Given the description of an element on the screen output the (x, y) to click on. 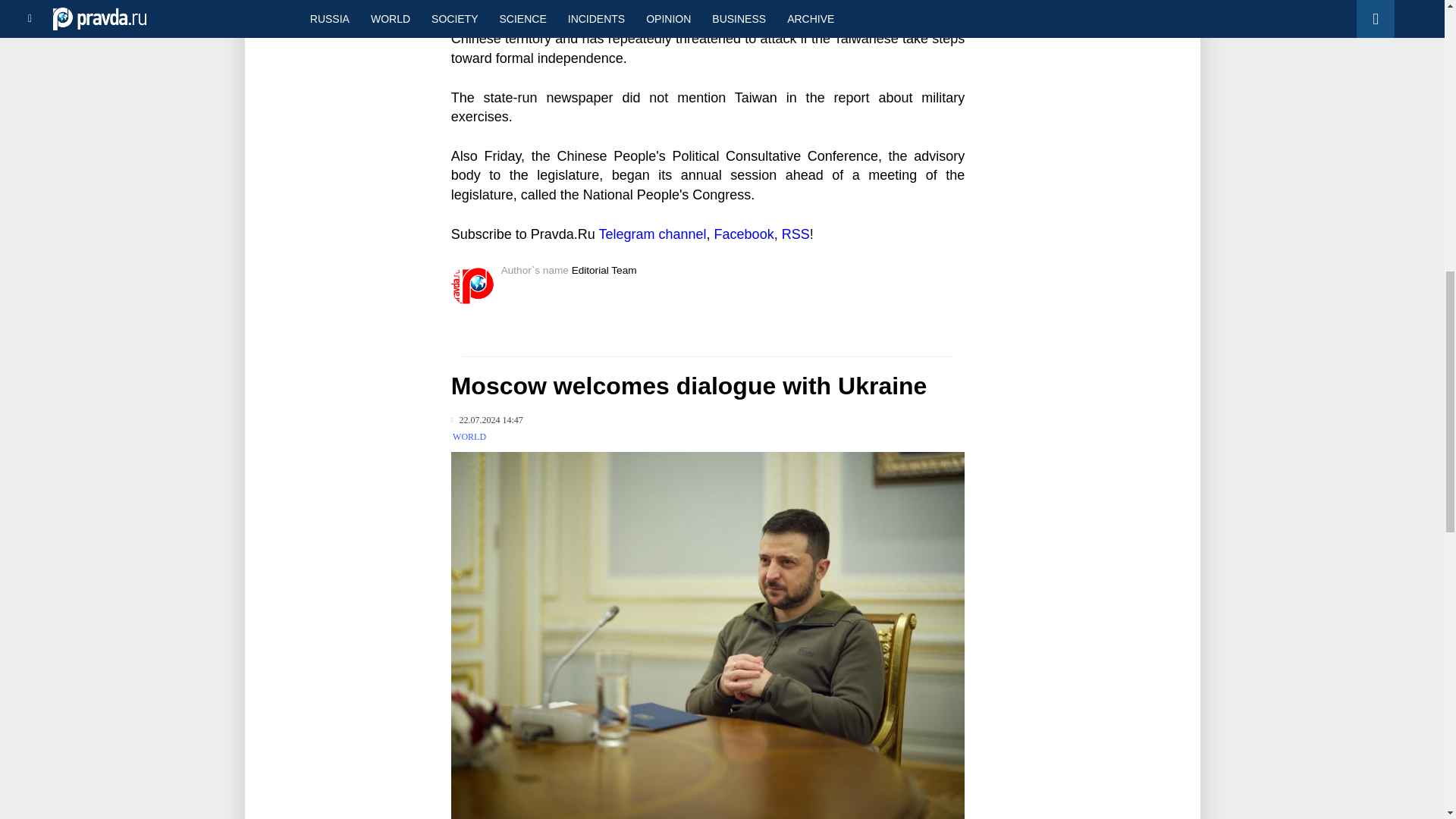
Editorial Team (604, 270)
Published (486, 419)
RSS (795, 233)
Back to top (1418, 79)
Facebook (744, 233)
Telegram channel (652, 233)
WORLD (469, 436)
